Given the description of an element on the screen output the (x, y) to click on. 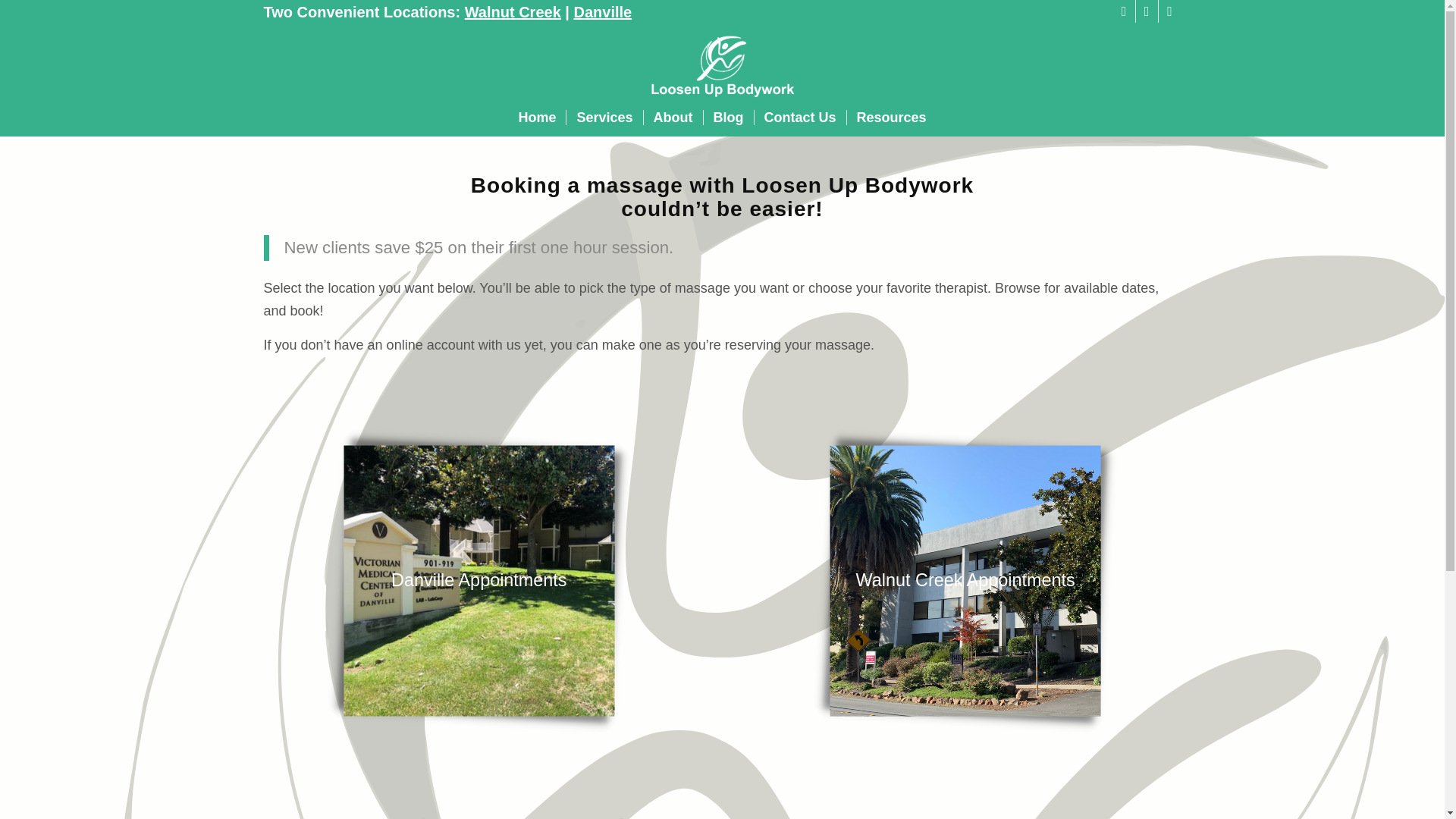
Home (537, 117)
Twitter (1124, 11)
Danville (602, 12)
Contact Us (799, 117)
Facebook (1146, 11)
Walnut Creek (512, 12)
Blog (726, 117)
About (673, 117)
Youtube (1169, 11)
Resources (890, 117)
Services (604, 117)
